Given the description of an element on the screen output the (x, y) to click on. 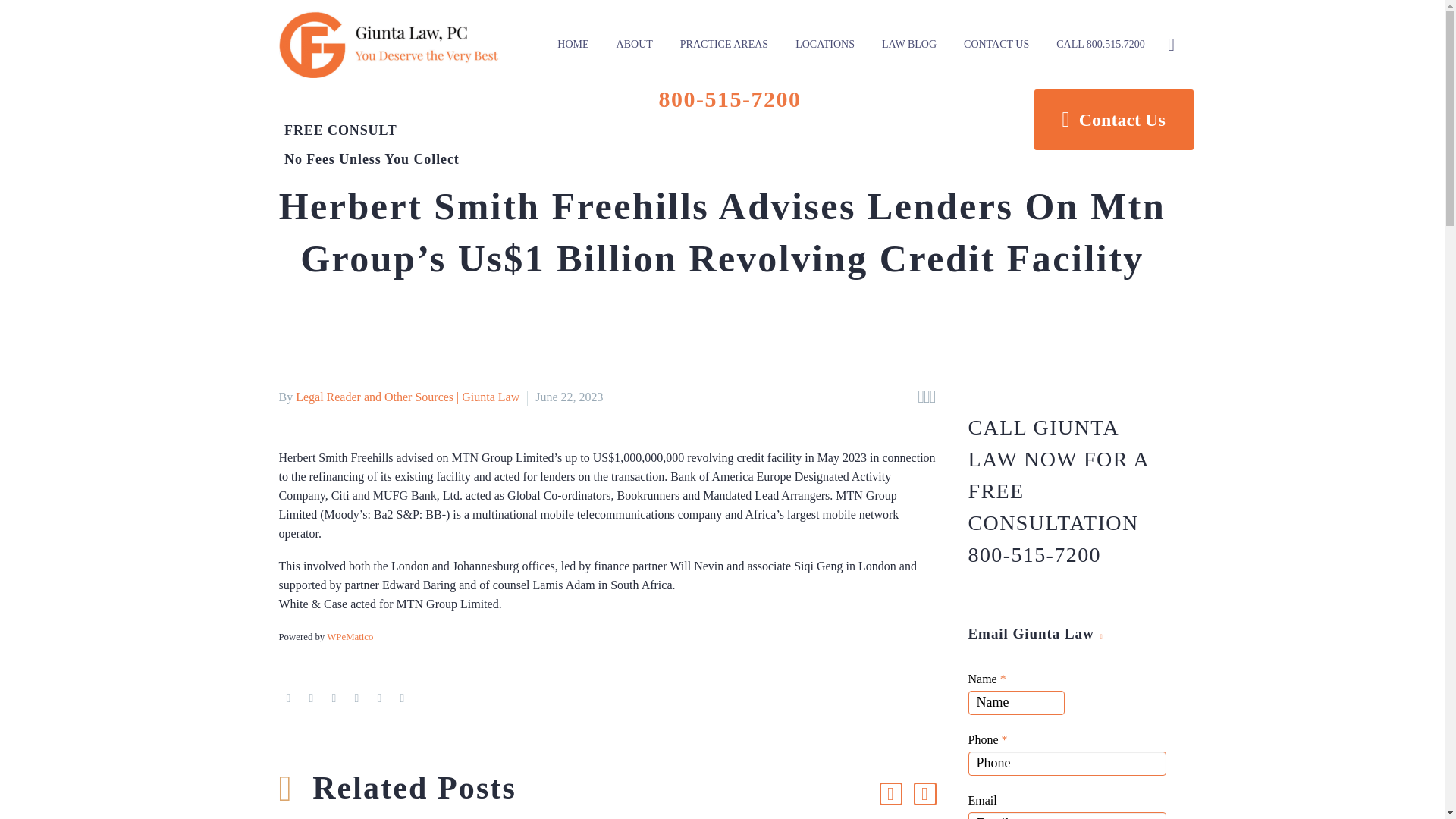
PRACTICE AREAS (723, 44)
Practice Areas (723, 44)
Phone (1067, 763)
HOME (572, 44)
LOCATIONS (825, 44)
Name (1016, 702)
ABOUT (634, 44)
Email (1067, 815)
